Given the description of an element on the screen output the (x, y) to click on. 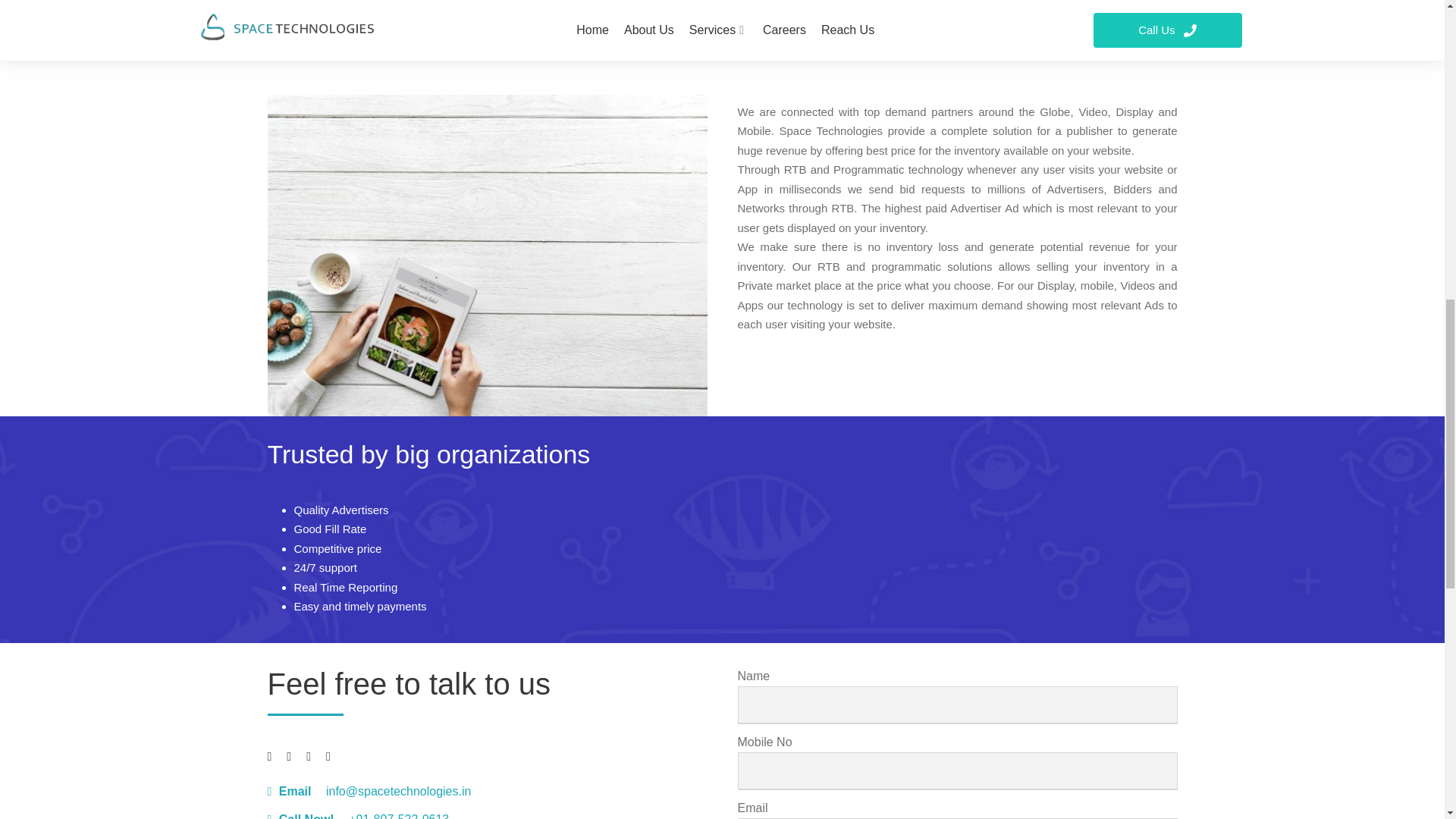
ENQUIRE NOW (722, 36)
